Given the description of an element on the screen output the (x, y) to click on. 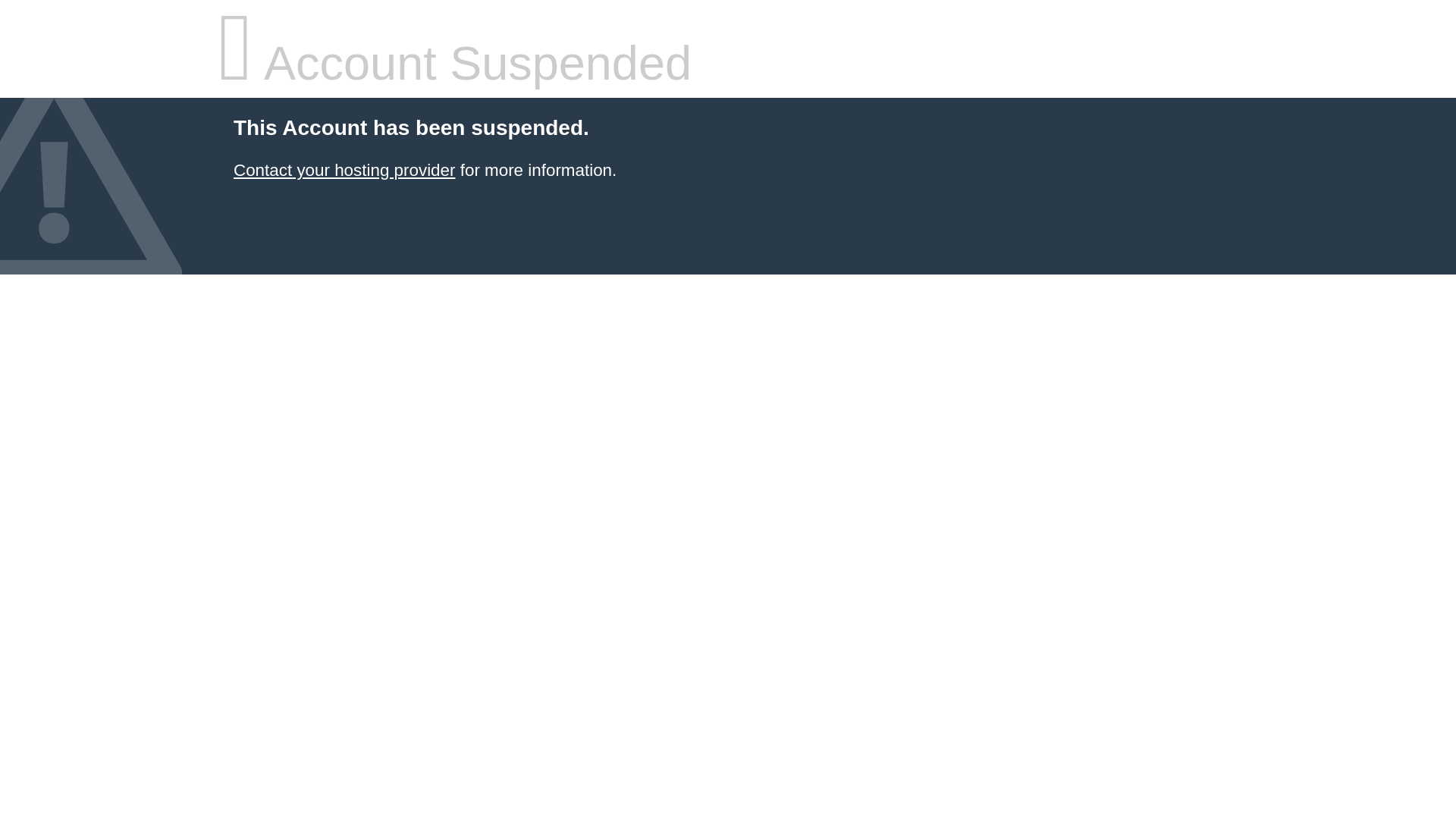
Contact your hosting provider (343, 169)
